Given the description of an element on the screen output the (x, y) to click on. 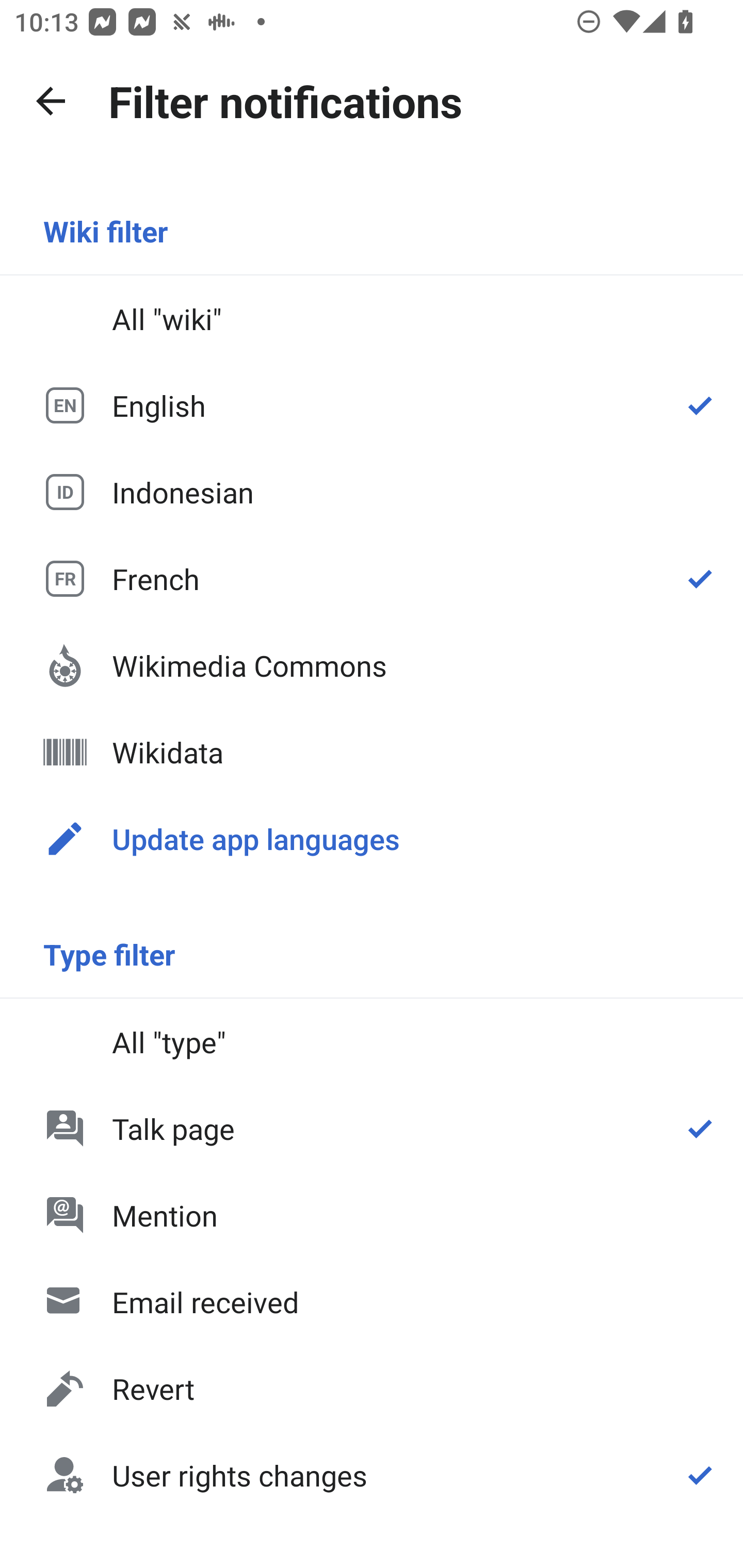
Navigate up (50, 101)
All "wiki" (371, 318)
EN English (371, 405)
ID Indonesian (371, 491)
FR French (371, 578)
Wikimedia Commons (371, 665)
Wikidata (371, 751)
Update app languages (371, 837)
All "type" (371, 1041)
Talk page (371, 1128)
Mention (371, 1215)
Email received (371, 1302)
Revert (371, 1388)
User rights changes (371, 1474)
